Given the description of an element on the screen output the (x, y) to click on. 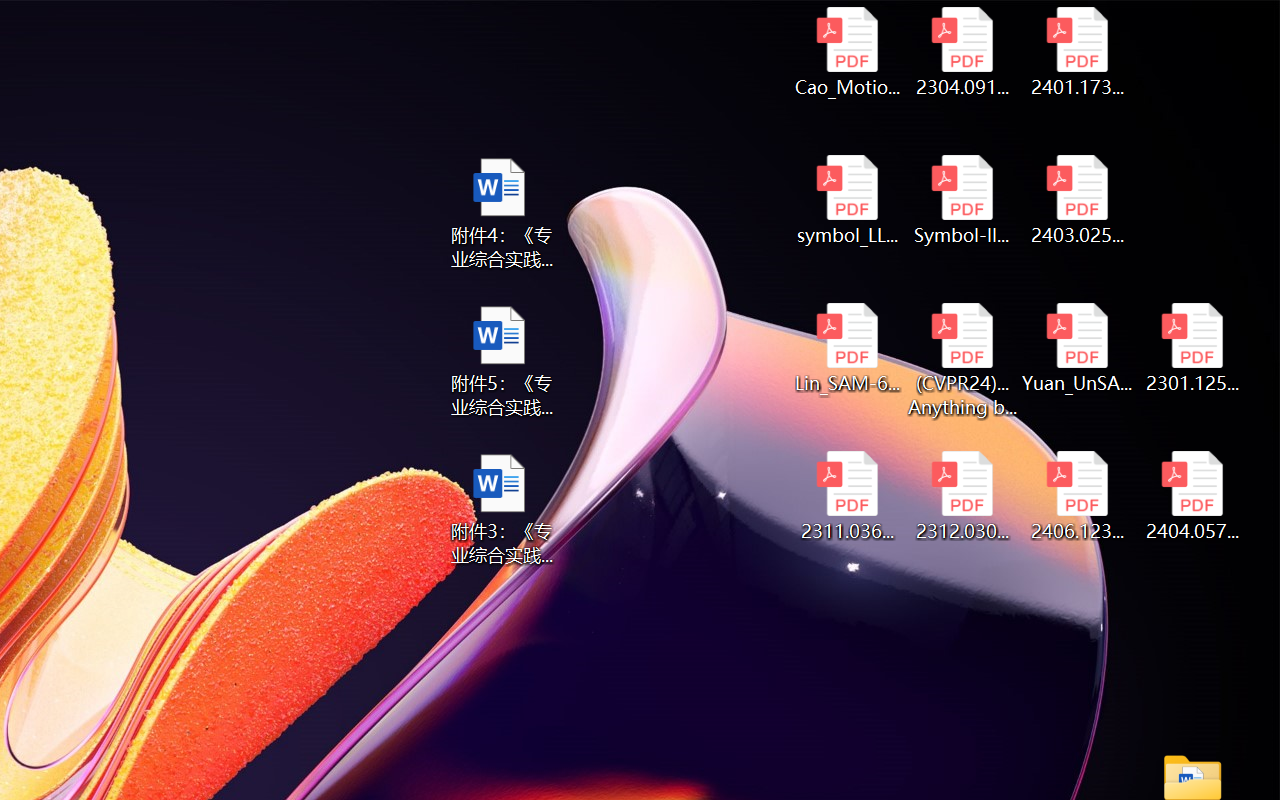
2406.12373v2.pdf (1077, 496)
2301.12597v3.pdf (1192, 348)
